Given the description of an element on the screen output the (x, y) to click on. 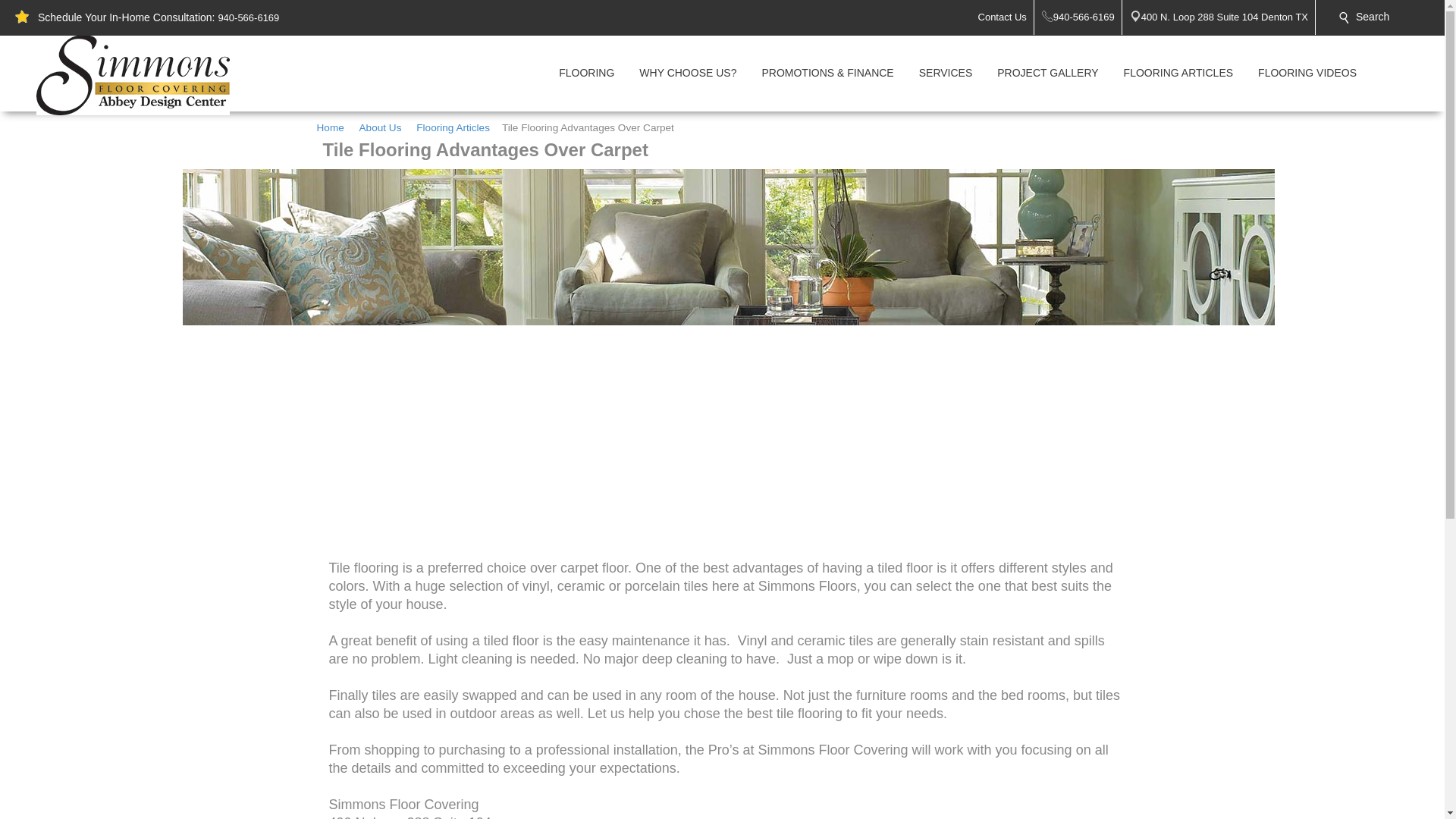
400 N. Loop 288 Suite 104 Denton TX (1228, 17)
940-566-6169 (1087, 17)
940-566-6169 (247, 17)
FLOORING (586, 73)
Contact Us (1005, 17)
